Given the description of an element on the screen output the (x, y) to click on. 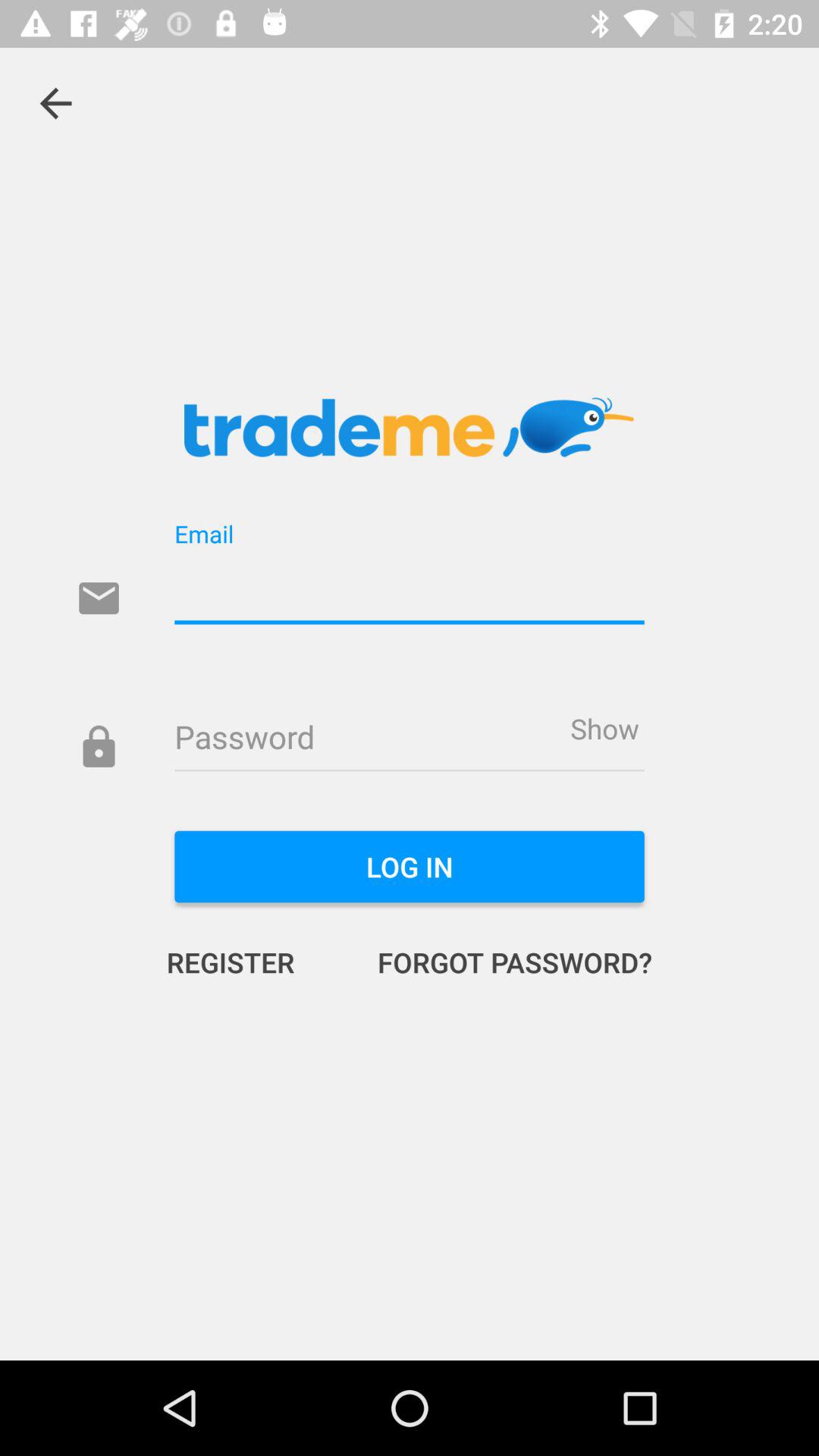
flip until show icon (604, 728)
